Given the description of an element on the screen output the (x, y) to click on. 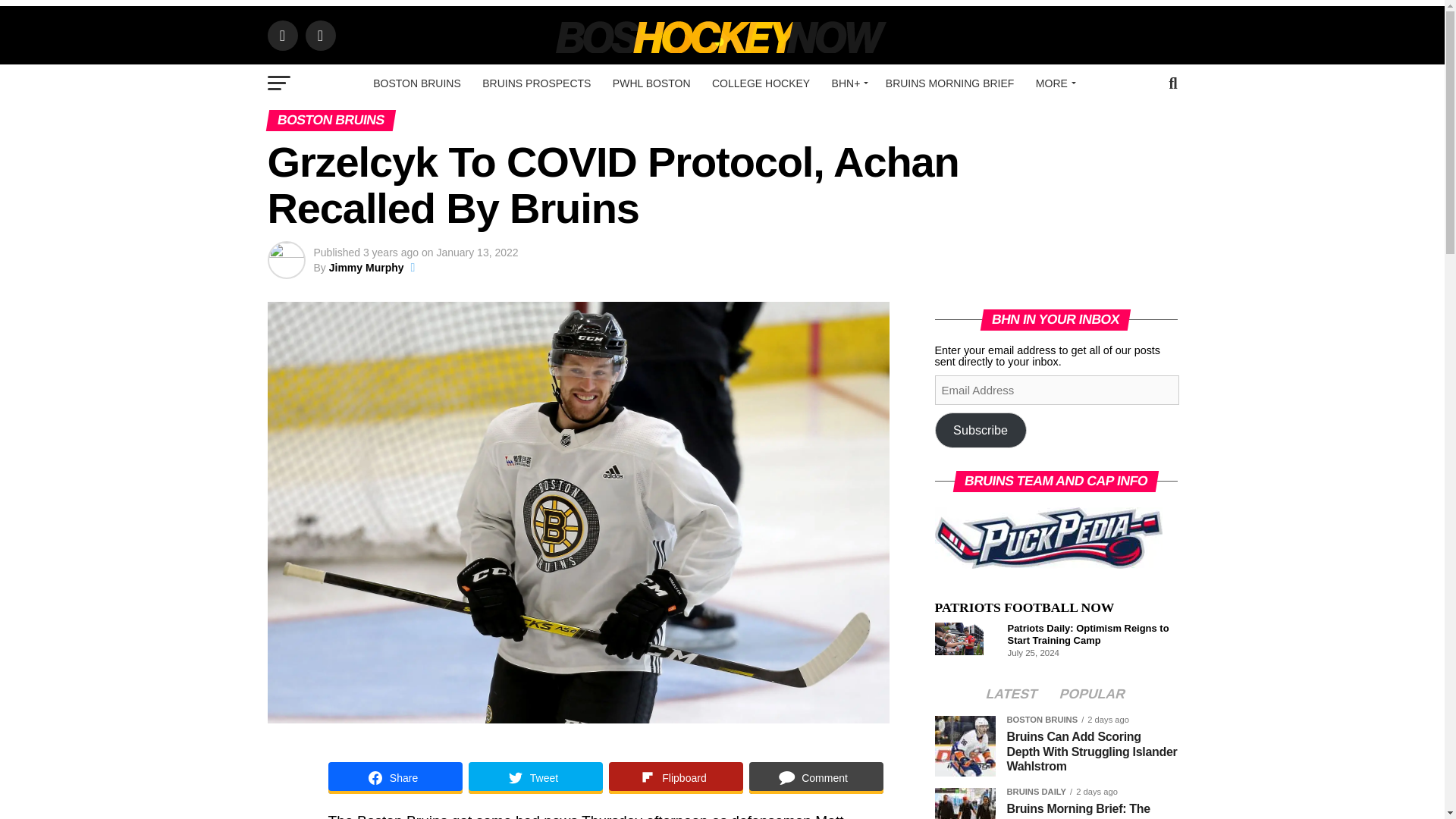
Bruins Team and Cap Info (1047, 537)
Share on Flipboard (675, 777)
Share on Tweet (535, 777)
Share on Share (394, 777)
Posts by Jimmy Murphy (366, 267)
Share on Comment (816, 777)
